Given the description of an element on the screen output the (x, y) to click on. 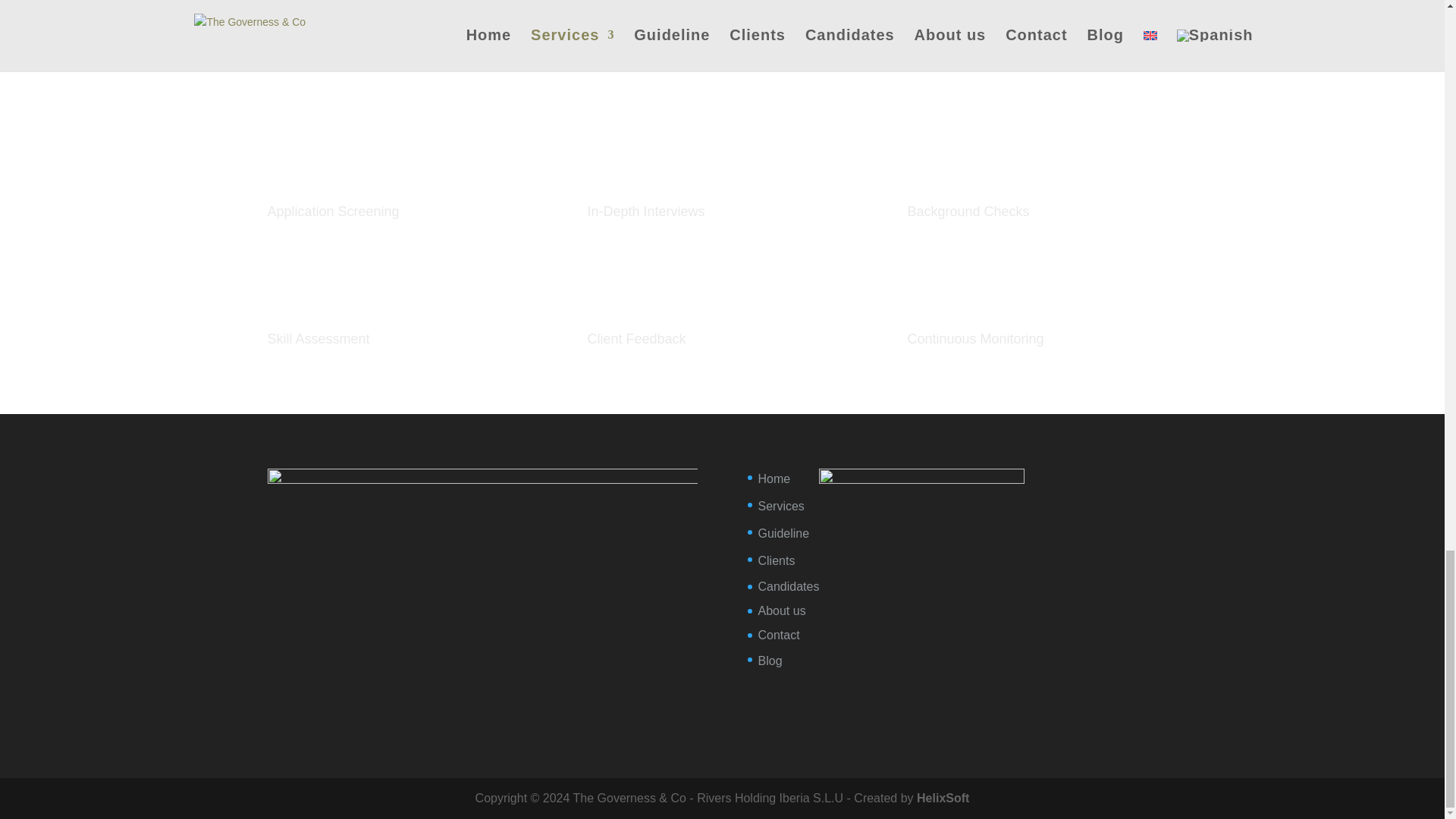
HelixSoft (943, 797)
Services (781, 505)
Home (774, 478)
Clients (776, 560)
Blog (770, 660)
Guideline (783, 533)
About us (782, 610)
Candidates (788, 585)
Contact (778, 634)
